Given the description of an element on the screen output the (x, y) to click on. 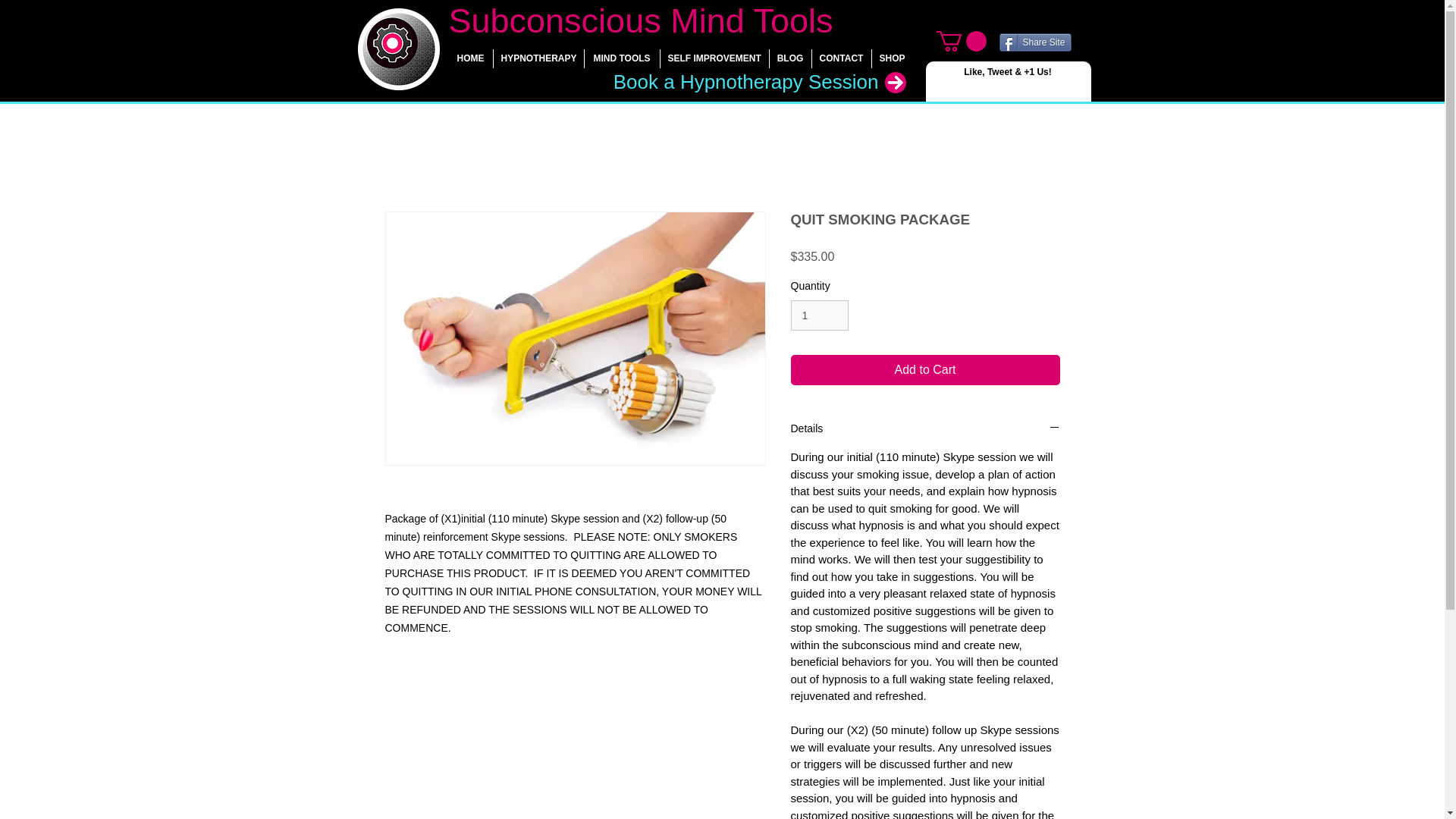
Arrow Button (894, 82)
Details (924, 428)
MIND TOOLS (621, 58)
Facebook Like (960, 87)
Share Site (1034, 42)
Add to Cart (924, 369)
BLOG (789, 58)
SHOP (892, 58)
HOME (470, 58)
Book a Hypnotherapy Session (744, 82)
CONTACT (840, 58)
Subconscious Mind Tools Logo (398, 49)
SELF IMPROVEMENT (713, 58)
Share Site (1034, 42)
Twitter Tweet (1054, 87)
